Given the description of an element on the screen output the (x, y) to click on. 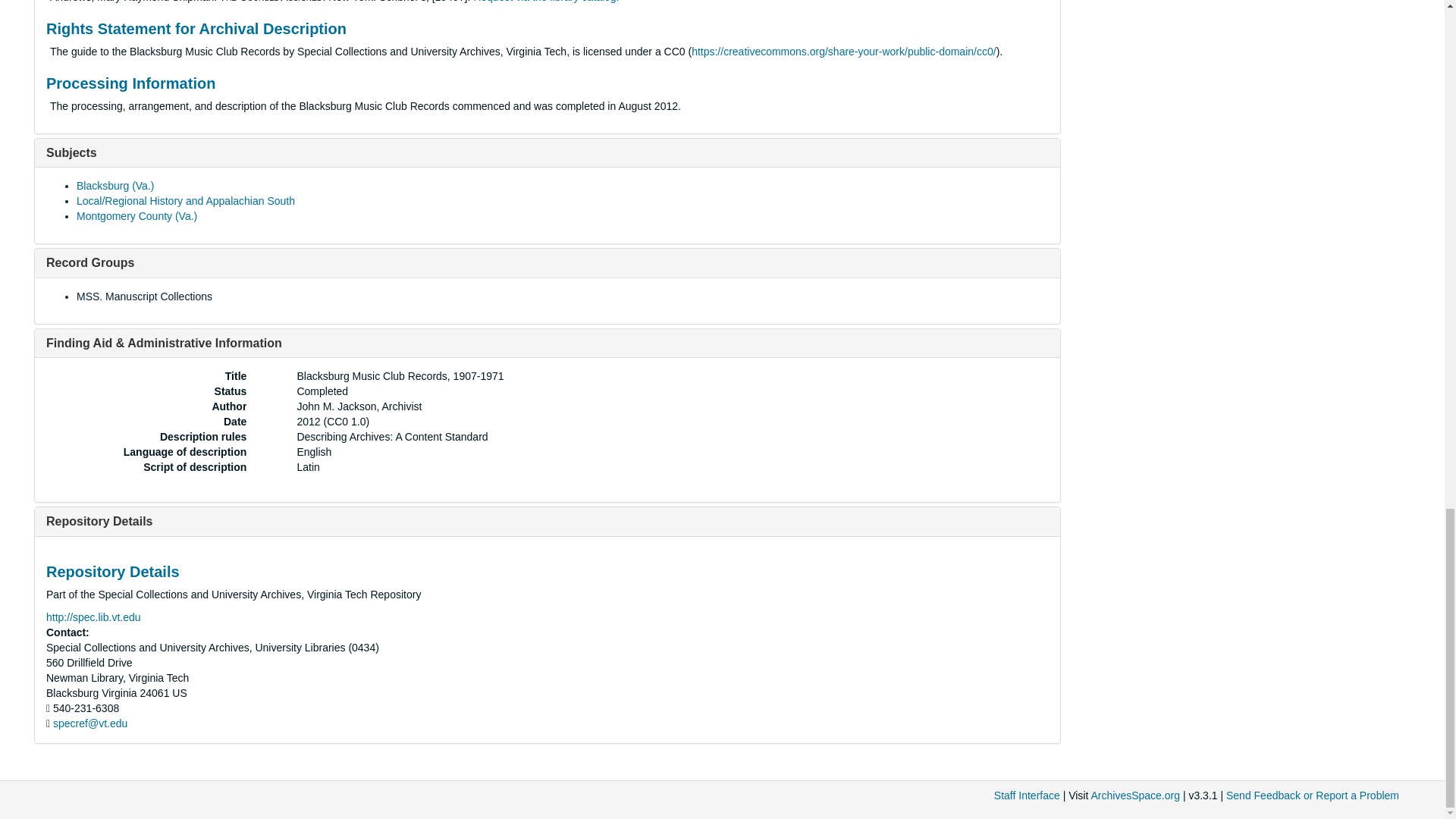
MSS. Manuscript Collections (144, 296)
Record Groups (89, 262)
Send email (90, 723)
Subjects (71, 152)
Repository Details (99, 521)
Request via the library catalog. (545, 1)
